Given the description of an element on the screen output the (x, y) to click on. 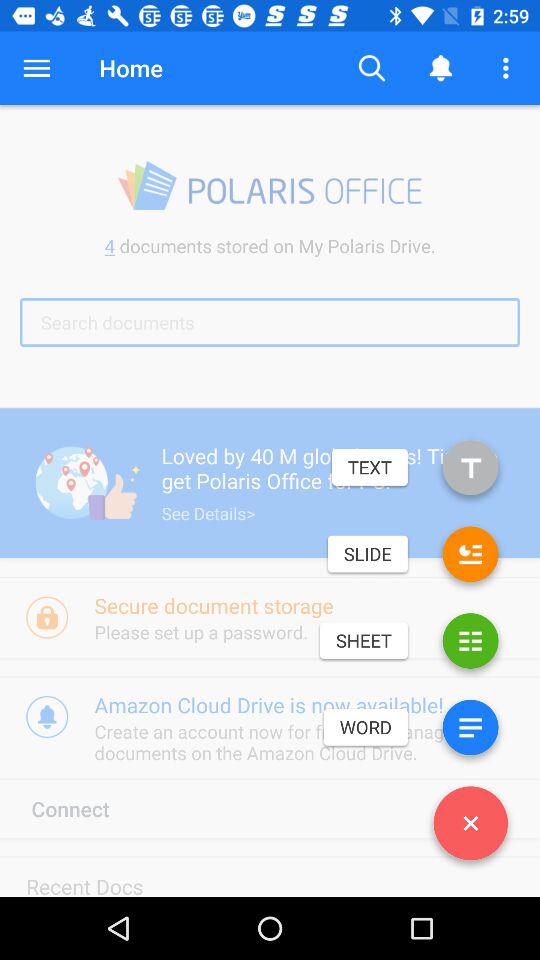
scroll until connect icon (89, 808)
